Given the description of an element on the screen output the (x, y) to click on. 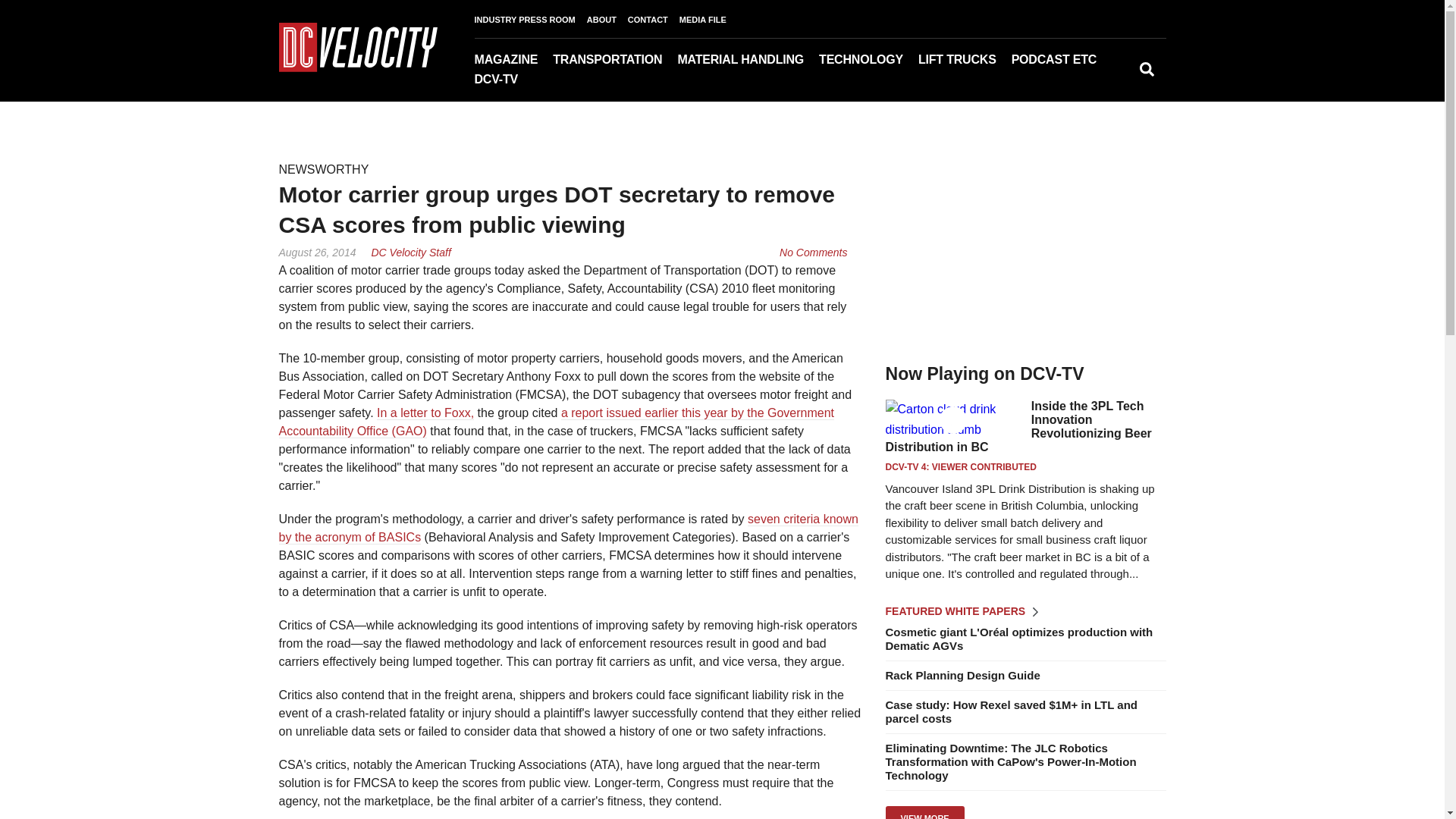
TRANSPORTATION (615, 59)
MATERIAL HANDLING (747, 59)
Blogs (1098, 81)
INDUSTRY PRESS ROOM (530, 19)
CONTACT (653, 19)
Current Issue (550, 81)
Events (1103, 81)
Newsletters (571, 81)
Conference Guides (1117, 81)
Mobile Apps (574, 81)
